Given the description of an element on the screen output the (x, y) to click on. 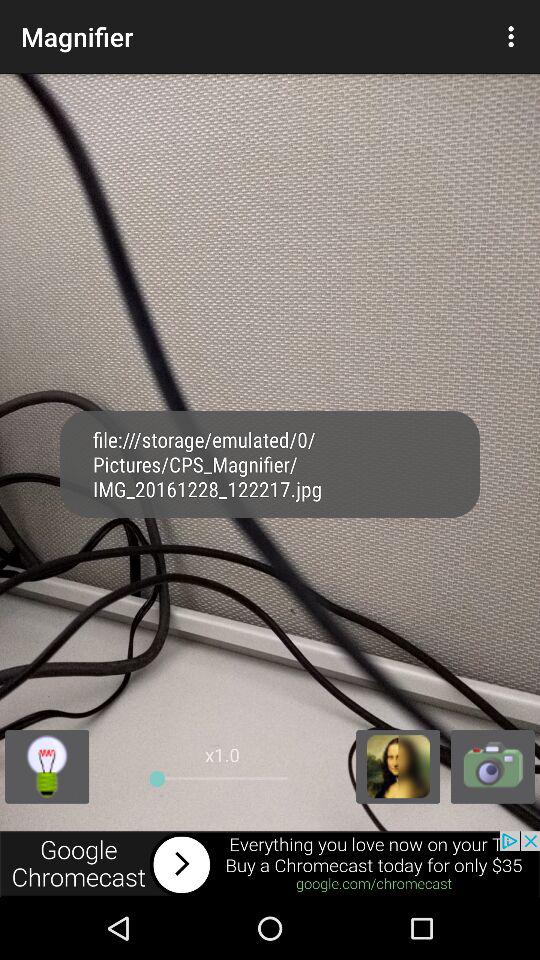
sponsored content (270, 864)
